Given the description of an element on the screen output the (x, y) to click on. 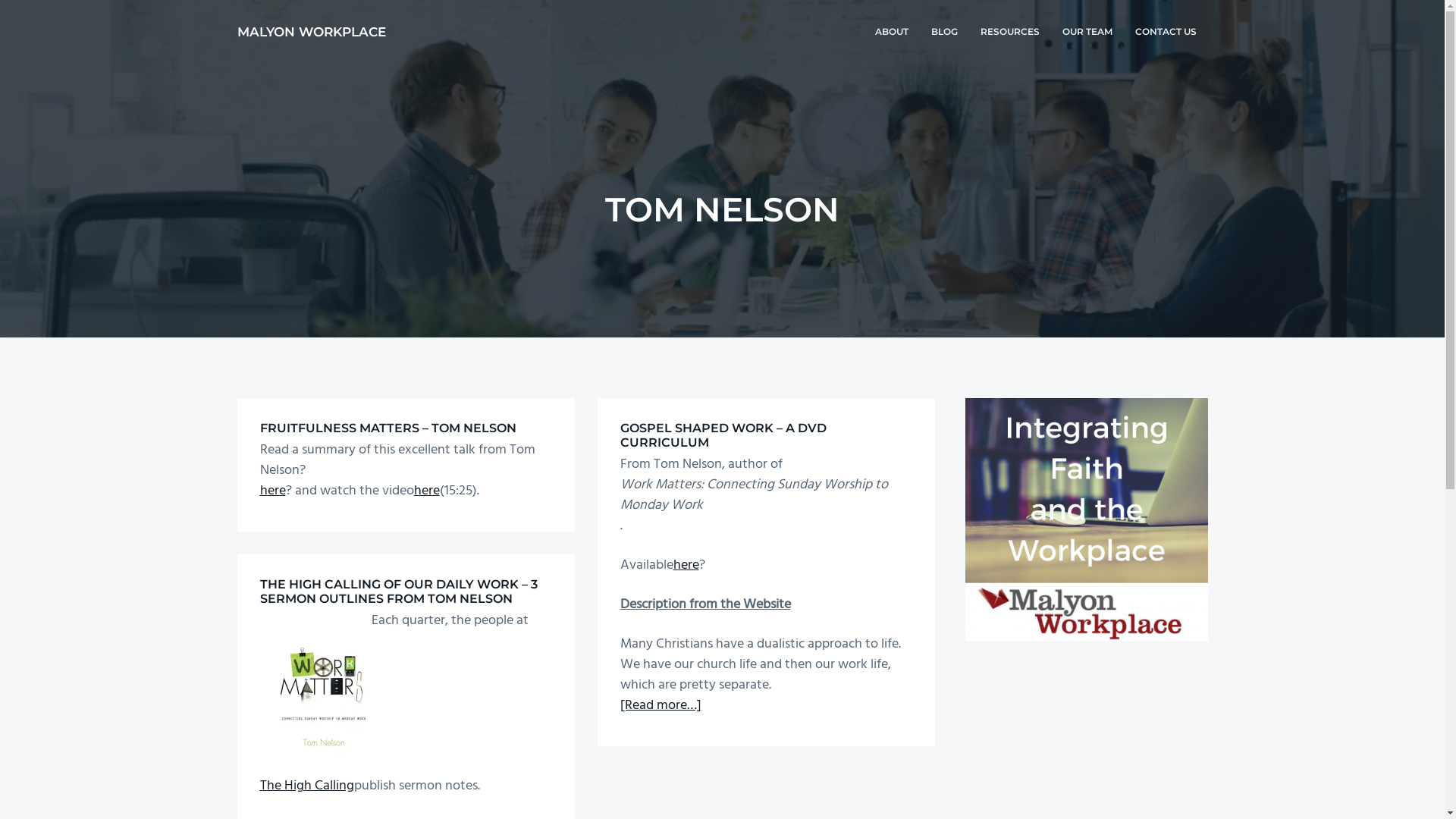
Skip to primary navigation Element type: text (0, 0)
here Element type: text (426, 490)
OUR TEAM Element type: text (1087, 31)
here Element type: text (686, 565)
The High Calling Element type: text (306, 785)
ABOUT Element type: text (890, 31)
CONTACT US Element type: text (1165, 31)
RESOURCES Element type: text (1010, 31)
here Element type: text (272, 490)
MALYON WORKPLACE Element type: text (310, 31)
BLOG Element type: text (943, 31)
